Given the description of an element on the screen output the (x, y) to click on. 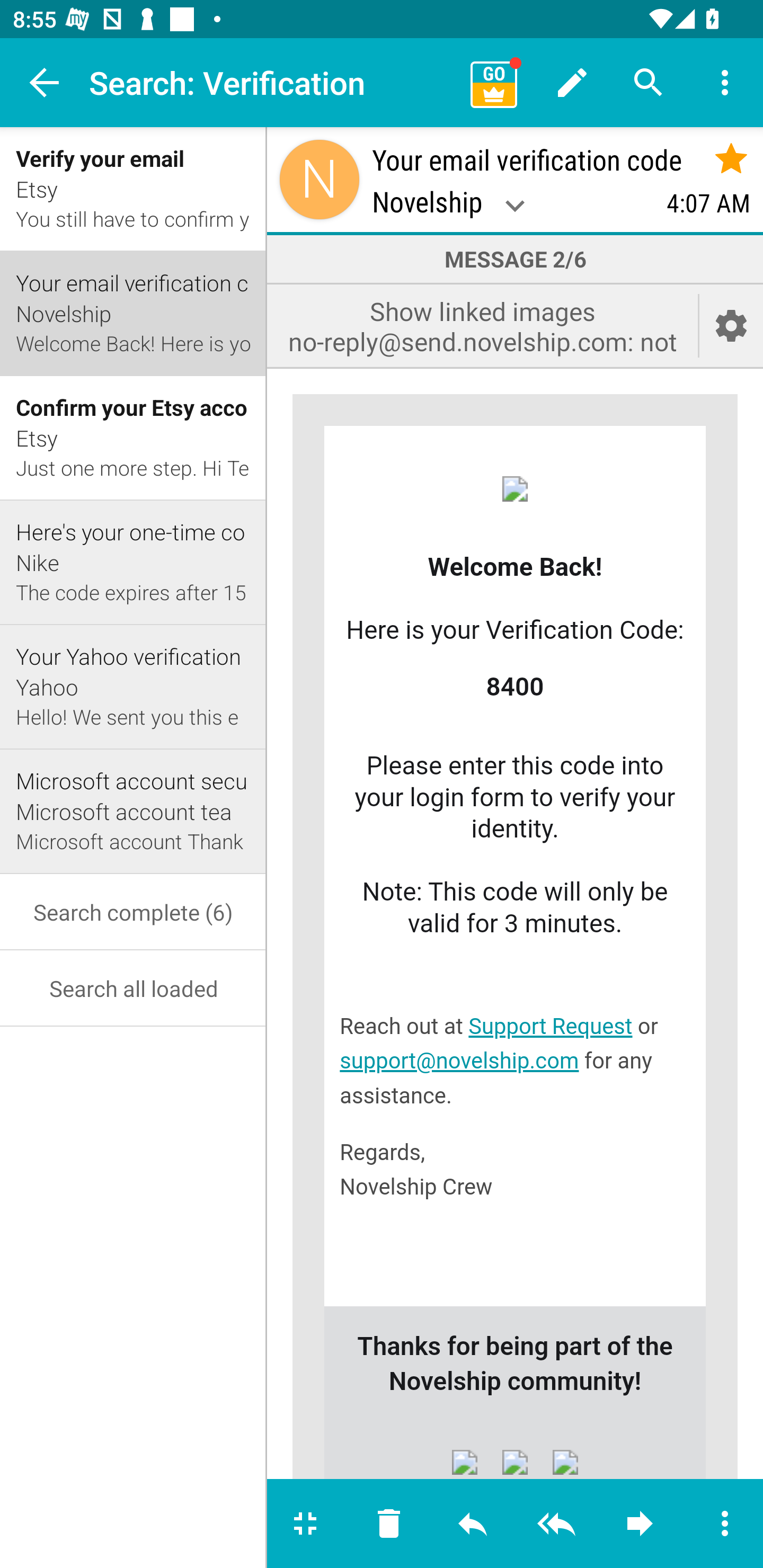
Navigate up (44, 82)
New message (572, 82)
Search (648, 82)
More options (724, 81)
Sender contact button (319, 179)
Account setup (731, 324)
Search complete (6) (133, 911)
Search all loaded (133, 988)
Support Request (549, 1026)
support@novelship.com (458, 1061)
data: (477, 1463)
data: (527, 1463)
data: (564, 1463)
Enable full screen (307, 1523)
Move to Deleted (389, 1523)
Reply (472, 1523)
Reply all (556, 1523)
Forward (640, 1523)
More options (722, 1522)
